Given the description of an element on the screen output the (x, y) to click on. 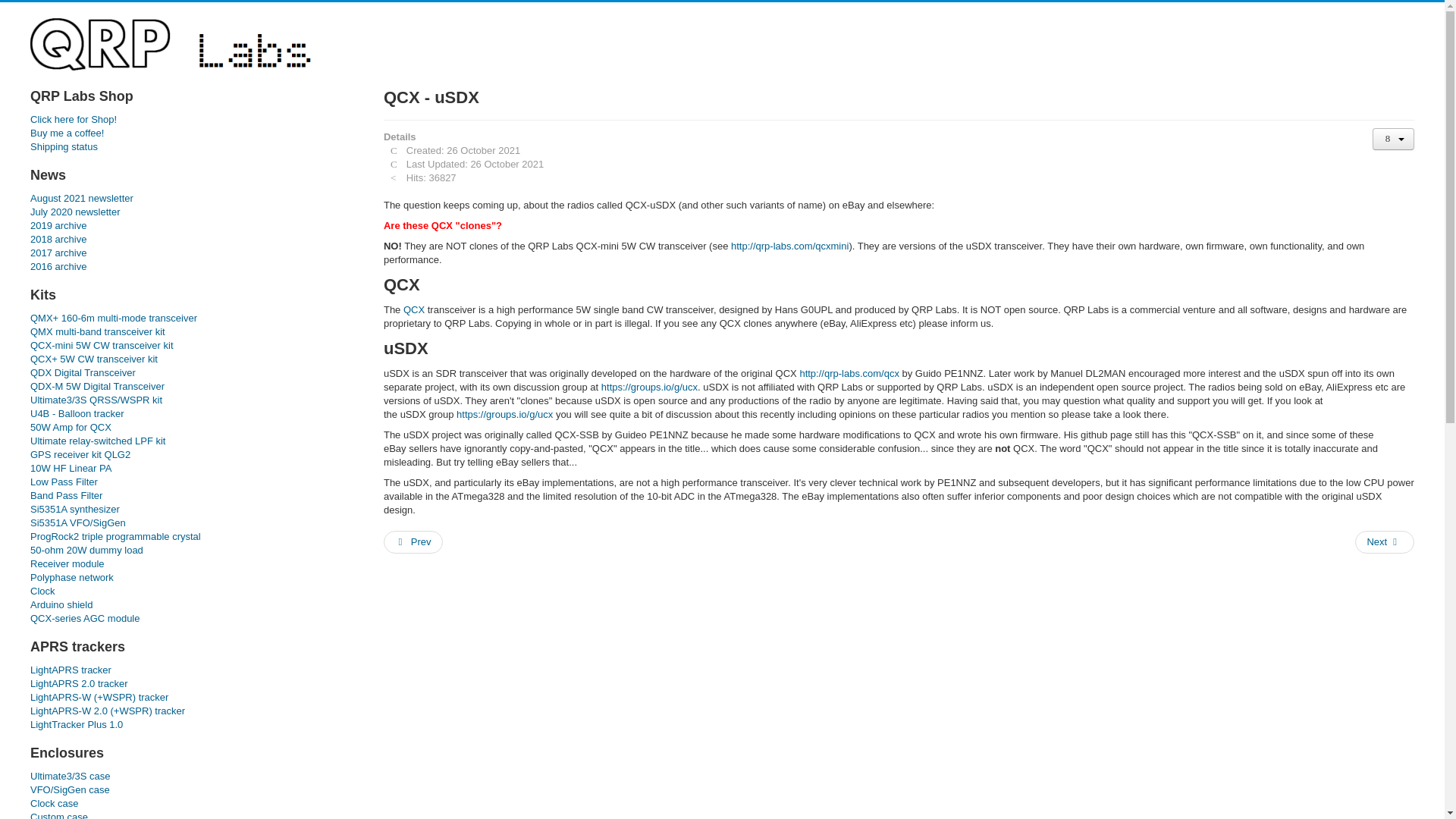
ProgRock2 triple programmable crystal (191, 536)
Clock (191, 591)
Arduino shield (191, 604)
Shipping status (191, 146)
QMX multi-band transceiver kit (191, 332)
10W HF Linear PA (191, 468)
Si5351A synthesizer (191, 509)
50W Amp for QCX (191, 427)
Receiver module (191, 563)
U4B - Balloon tracker (191, 413)
